Given the description of an element on the screen output the (x, y) to click on. 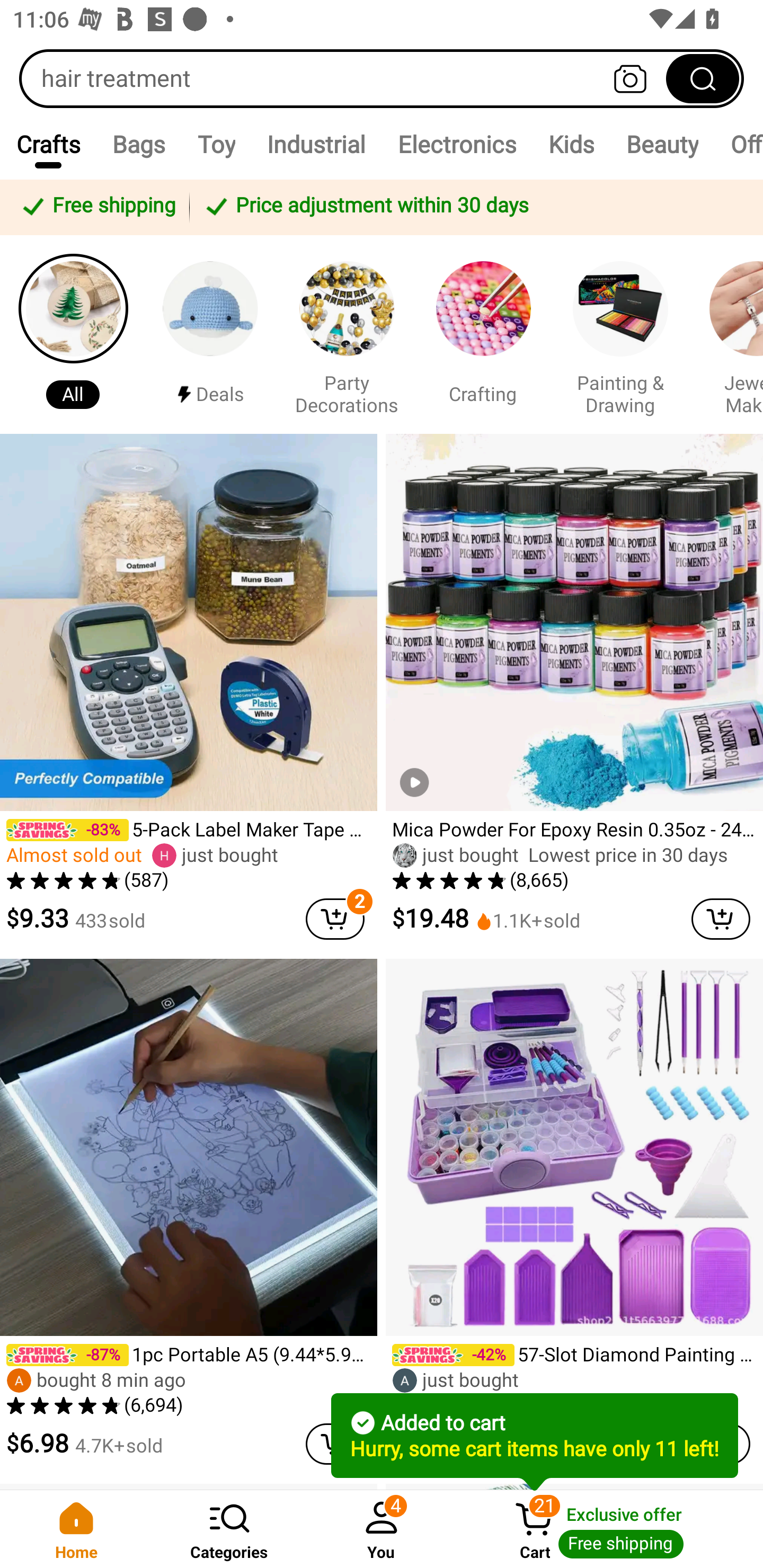
hair treatment (381, 78)
Crafts (48, 144)
Bags (138, 144)
Toy (216, 144)
Industrial (316, 144)
Electronics (456, 144)
Kids (570, 144)
Beauty (661, 144)
Free shipping (97, 206)
Price adjustment within 30 days (472, 206)
All (72, 333)
￼￼Deals (209, 333)
Party Decorations (346, 333)
Crafting (482, 333)
Painting & Drawing (619, 333)
cart delete (334, 918)
cart delete (720, 918)
Home (76, 1528)
Categories (228, 1528)
You 4 You (381, 1528)
Cart 21 Cart Exclusive offer (610, 1528)
